Given the description of an element on the screen output the (x, y) to click on. 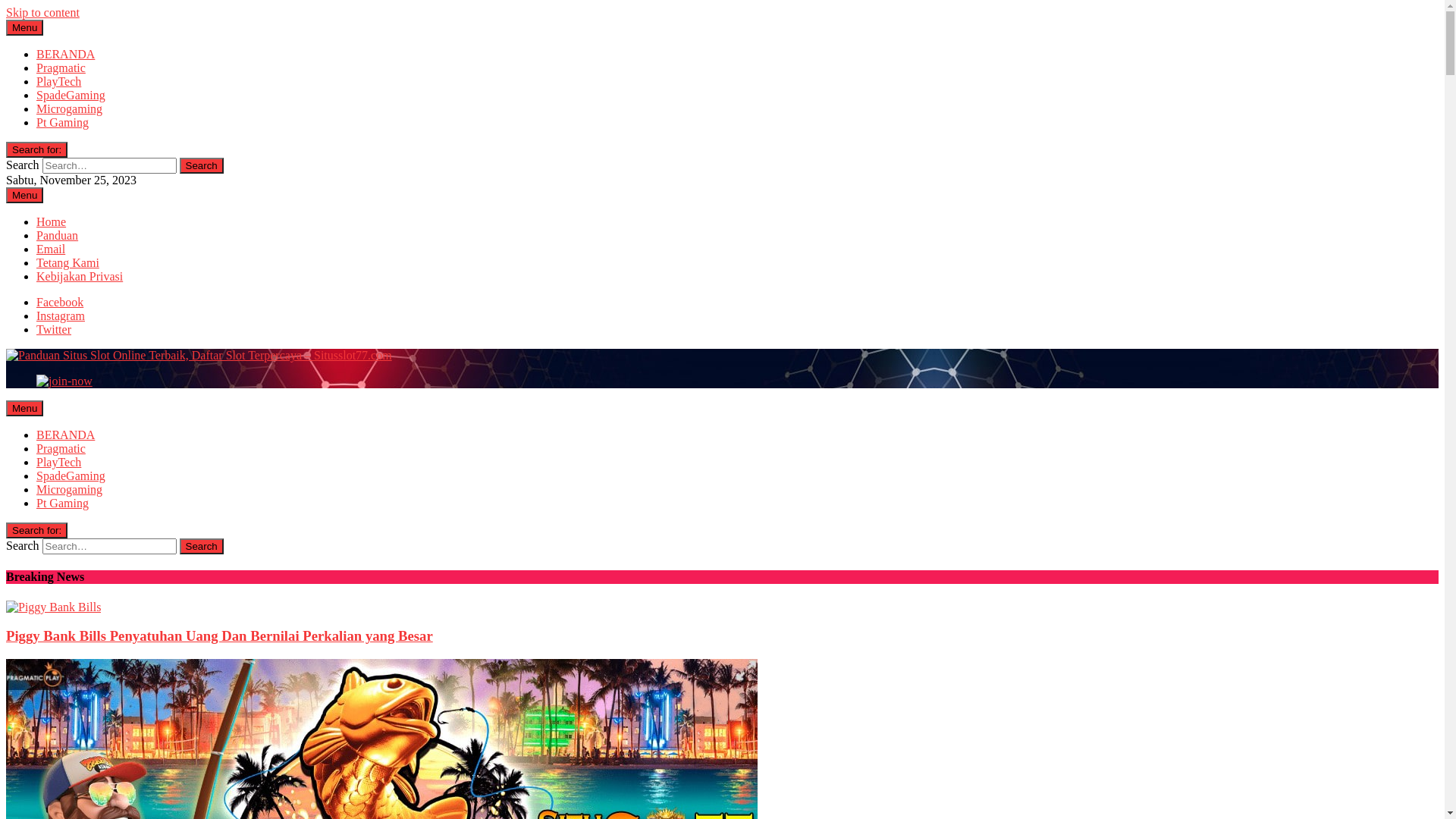
Microgaming Element type: text (69, 108)
Instagram Element type: text (60, 315)
Facebook Element type: text (59, 301)
PlayTech Element type: text (58, 81)
SpadeGaming Element type: text (70, 94)
PlayTech Element type: text (58, 461)
Search for: Element type: text (36, 530)
Menu Element type: text (24, 195)
Search Element type: text (201, 165)
Search for: Element type: text (36, 149)
Pragmatic Element type: text (60, 67)
Email Element type: text (50, 248)
Skip to content Element type: text (42, 12)
Panduan Element type: text (57, 235)
Search Element type: text (201, 546)
Tetang Kami Element type: text (67, 262)
Menu Element type: text (24, 408)
Pt Gaming Element type: text (62, 122)
Pt Gaming Element type: text (62, 502)
Twitter Element type: text (53, 329)
SpadeGaming Element type: text (70, 475)
BERANDA Element type: text (65, 53)
Kebijakan Privasi Element type: text (79, 275)
Pragmatic Element type: text (60, 448)
Home Element type: text (50, 221)
Menu Element type: text (24, 27)
BERANDA Element type: text (65, 434)
Microgaming Element type: text (69, 489)
